Given the description of an element on the screen output the (x, y) to click on. 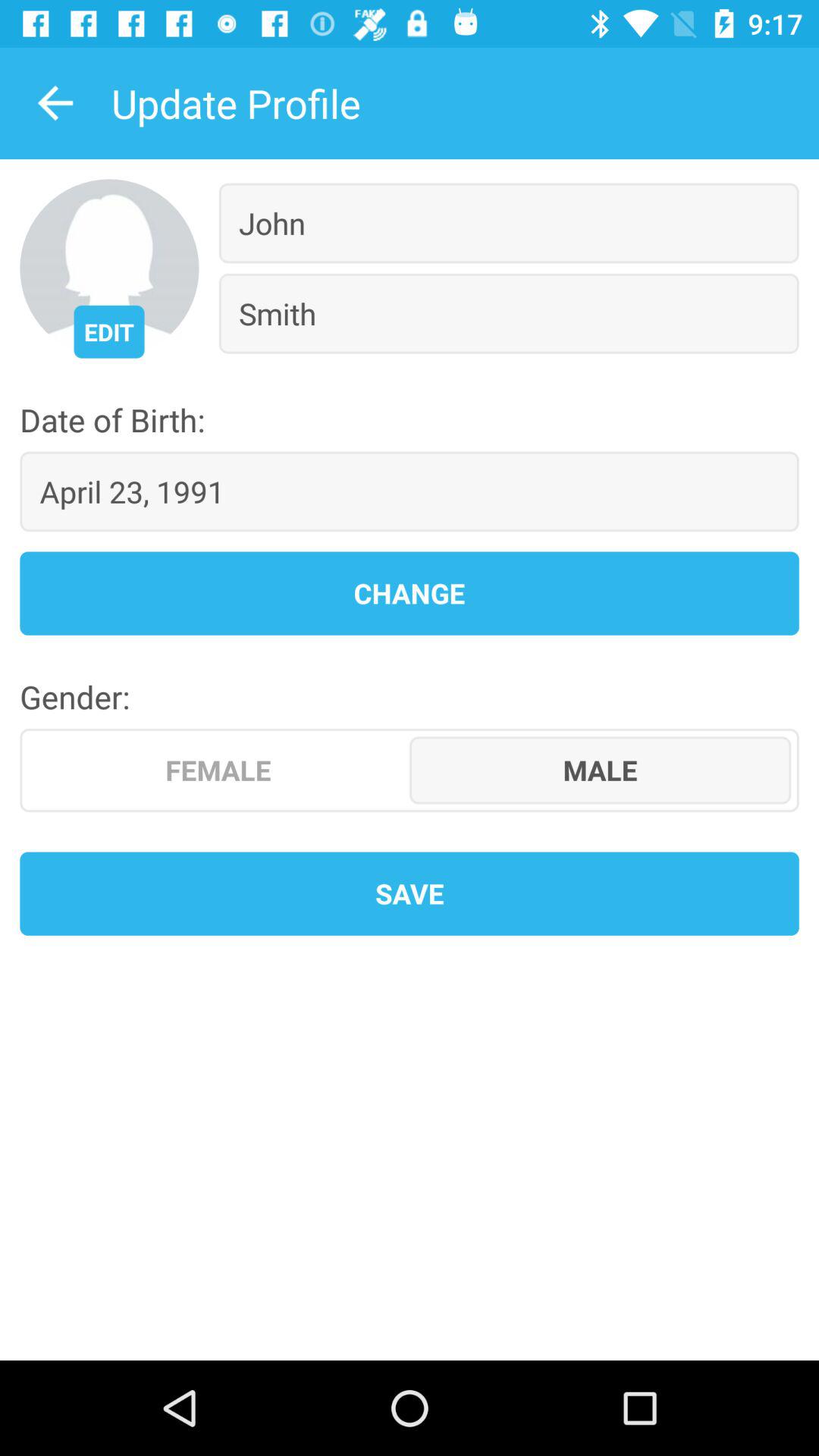
jump until the smith (508, 313)
